Given the description of an element on the screen output the (x, y) to click on. 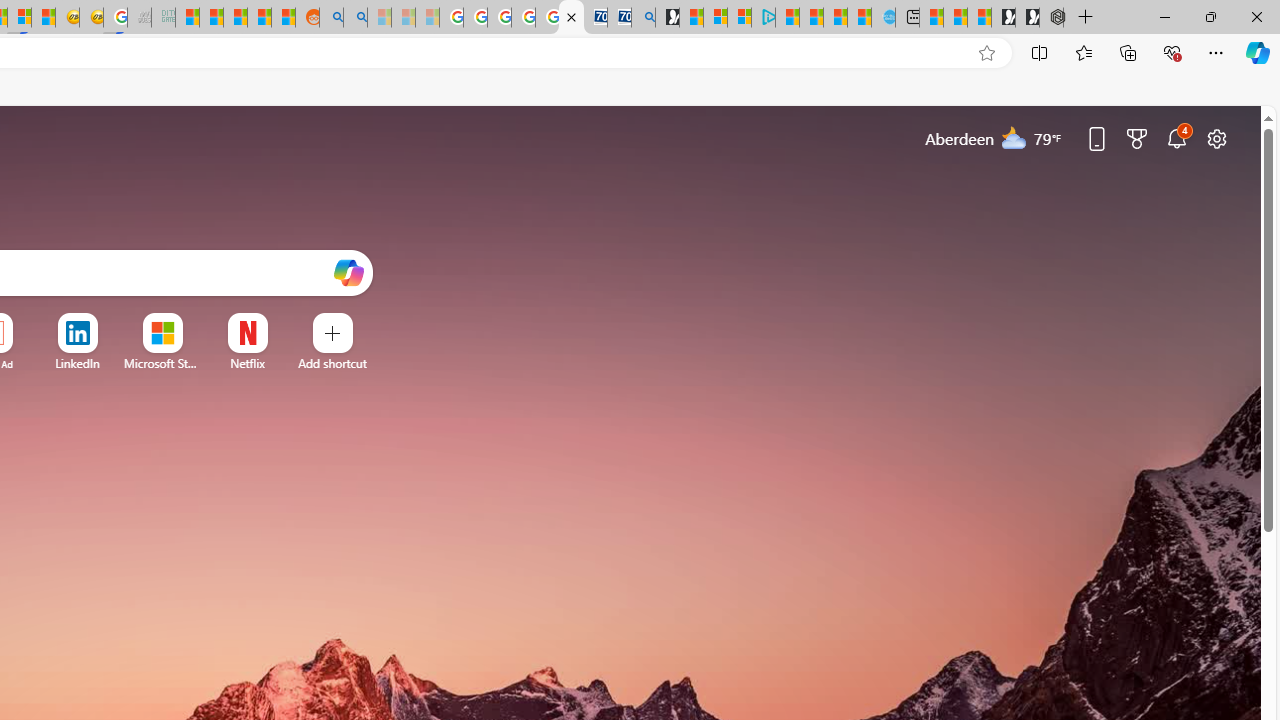
Home | Sky Blue Bikes - Sky Blue Bikes (882, 17)
Notifications (1176, 138)
Student Loan Update: Forgiveness Program Ends This Month (259, 17)
Nordace - Nordace Siena Is Not An Ordinary Backpack (1051, 17)
